Given the description of an element on the screen output the (x, y) to click on. 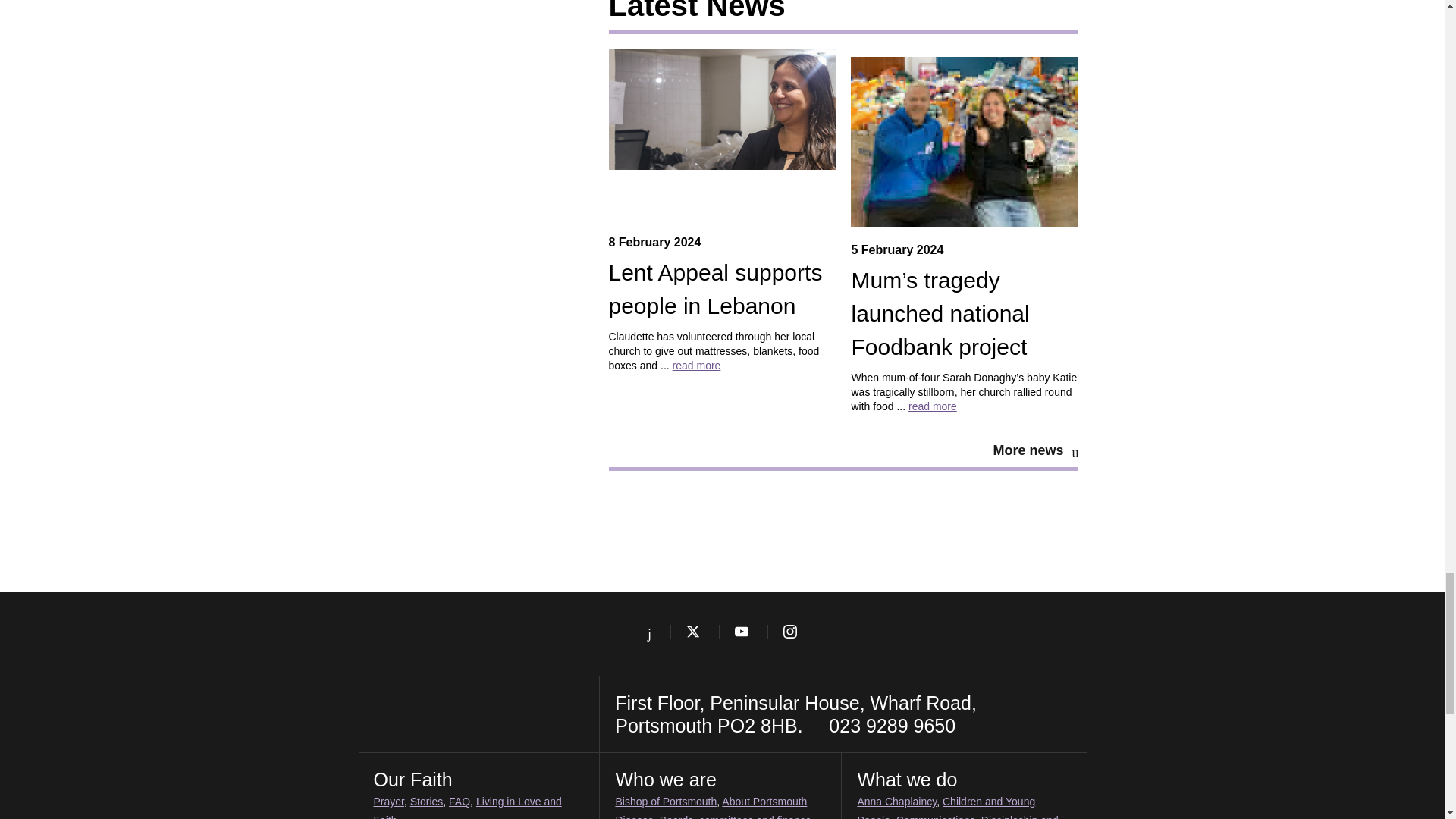
Lent Appeal supports people in Lebanon (715, 289)
